Given the description of an element on the screen output the (x, y) to click on. 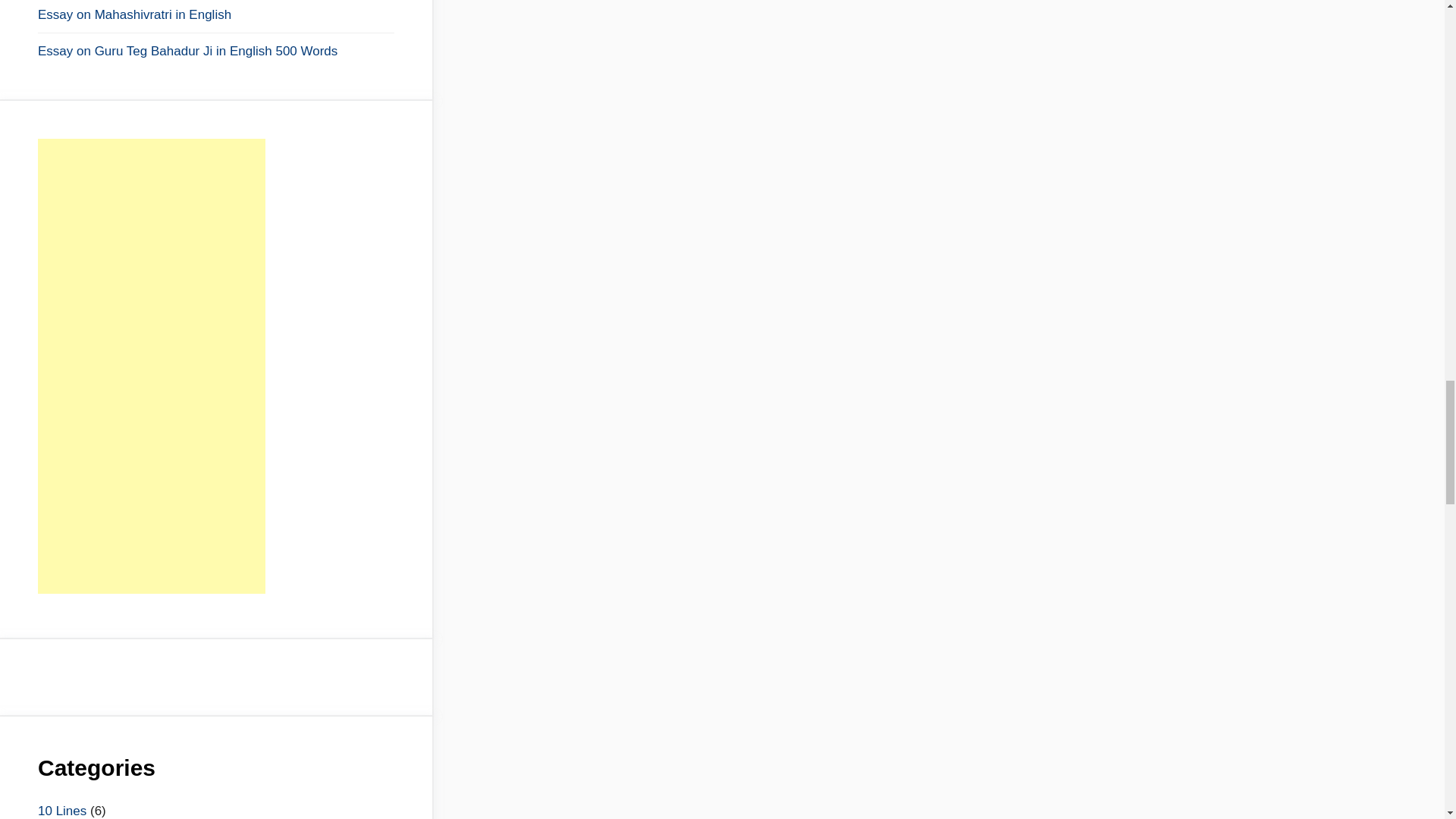
Essay on Mahashivratri in English (215, 14)
Essay on Guru Teg Bahadur Ji in English 500 Words (215, 50)
10 Lines (61, 810)
